Given the description of an element on the screen output the (x, y) to click on. 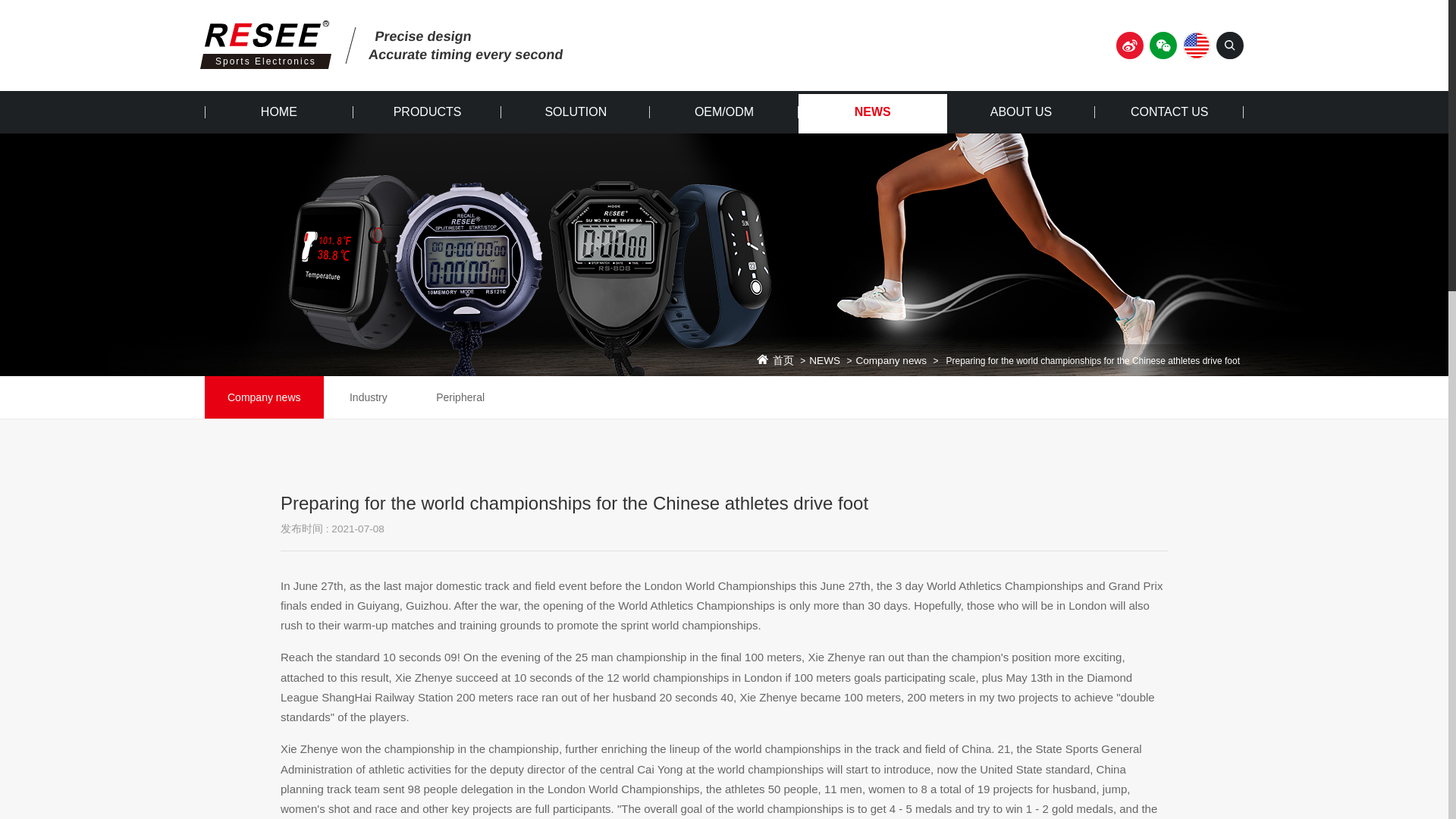
SOLUTION (574, 111)
NEWS (872, 111)
Company news (891, 360)
PRODUCTS (427, 111)
HOME (279, 111)
Peripheral (459, 396)
Industry (368, 396)
Company news (264, 396)
CONTACT US (1168, 111)
PRODUCTS (427, 111)
NEWS (824, 360)
Company news (264, 396)
HOME (279, 111)
Company news (891, 360)
